Given the description of an element on the screen output the (x, y) to click on. 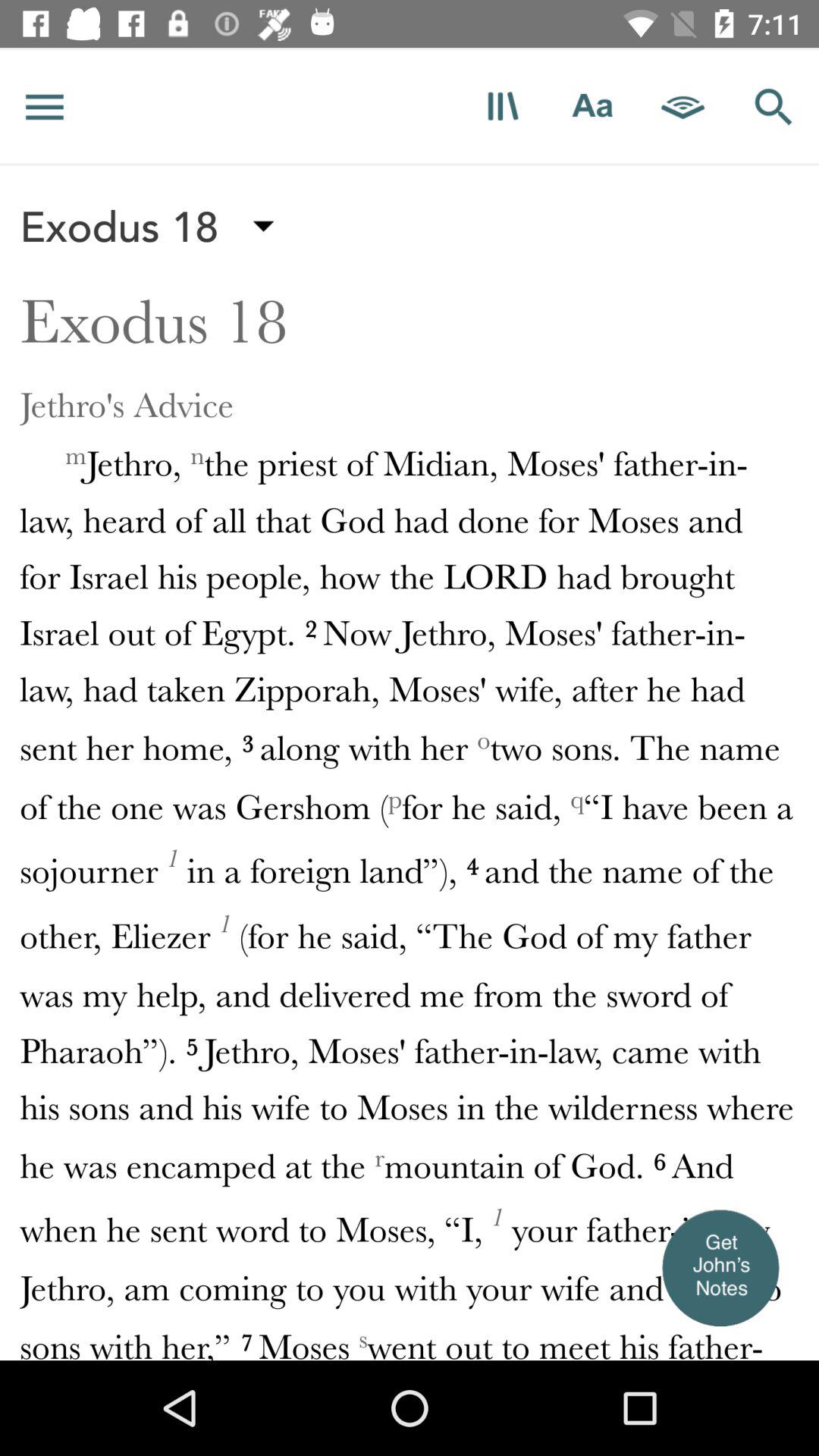
turn off icon at the bottom right corner (720, 1267)
